Given the description of an element on the screen output the (x, y) to click on. 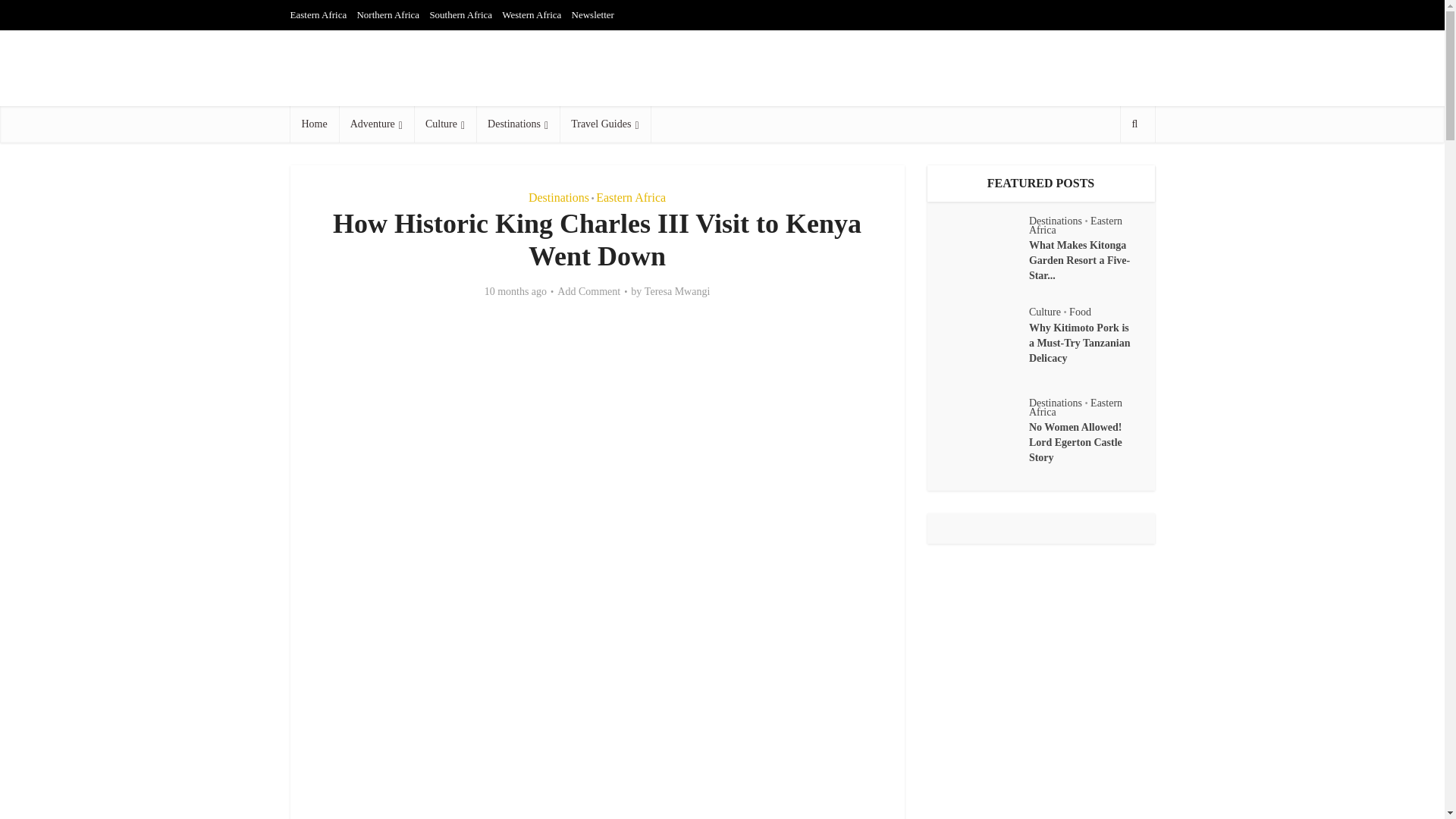
Culture (444, 124)
Home (313, 124)
Western Africa (531, 14)
Newsletter (593, 14)
Northern Africa (387, 14)
Travel Guides (604, 124)
Southern Africa (460, 14)
Destinations (517, 124)
Eastern Africa (317, 14)
Destinations (558, 196)
